Given the description of an element on the screen output the (x, y) to click on. 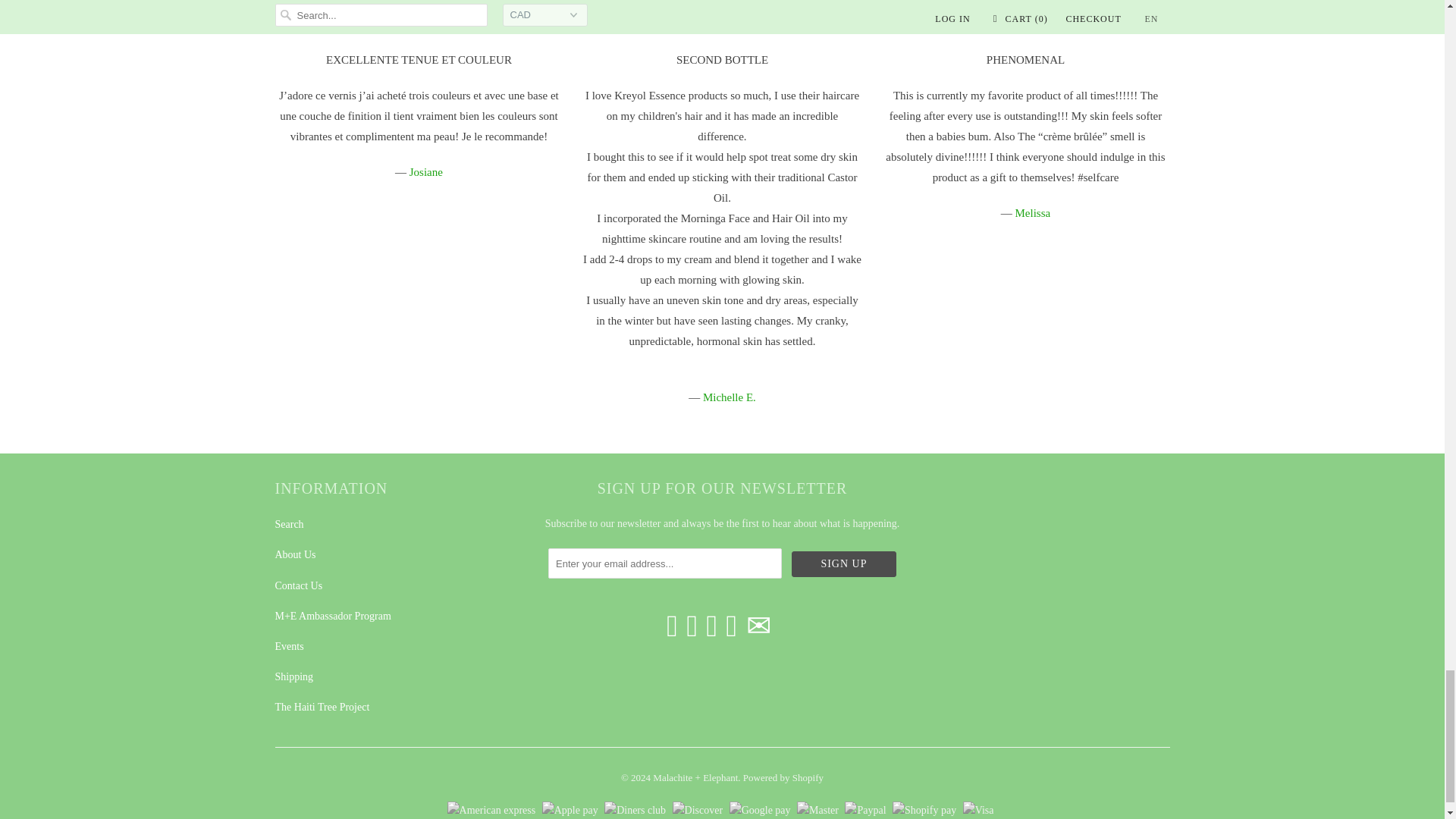
Sign Up (844, 564)
